Given the description of an element on the screen output the (x, y) to click on. 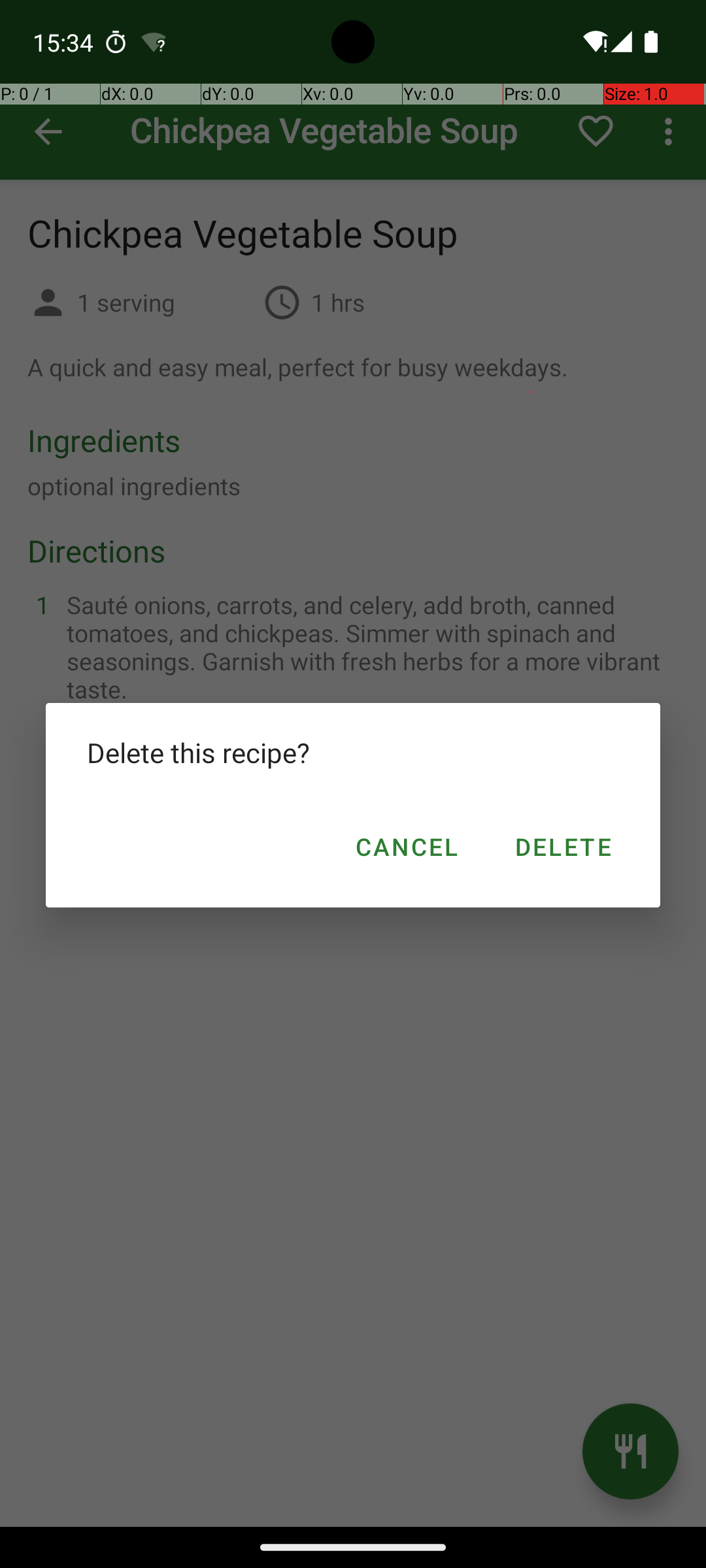
Delete this recipe? Element type: android.widget.TextView (352, 751)
DELETE Element type: android.widget.Button (562, 846)
